Given the description of an element on the screen output the (x, y) to click on. 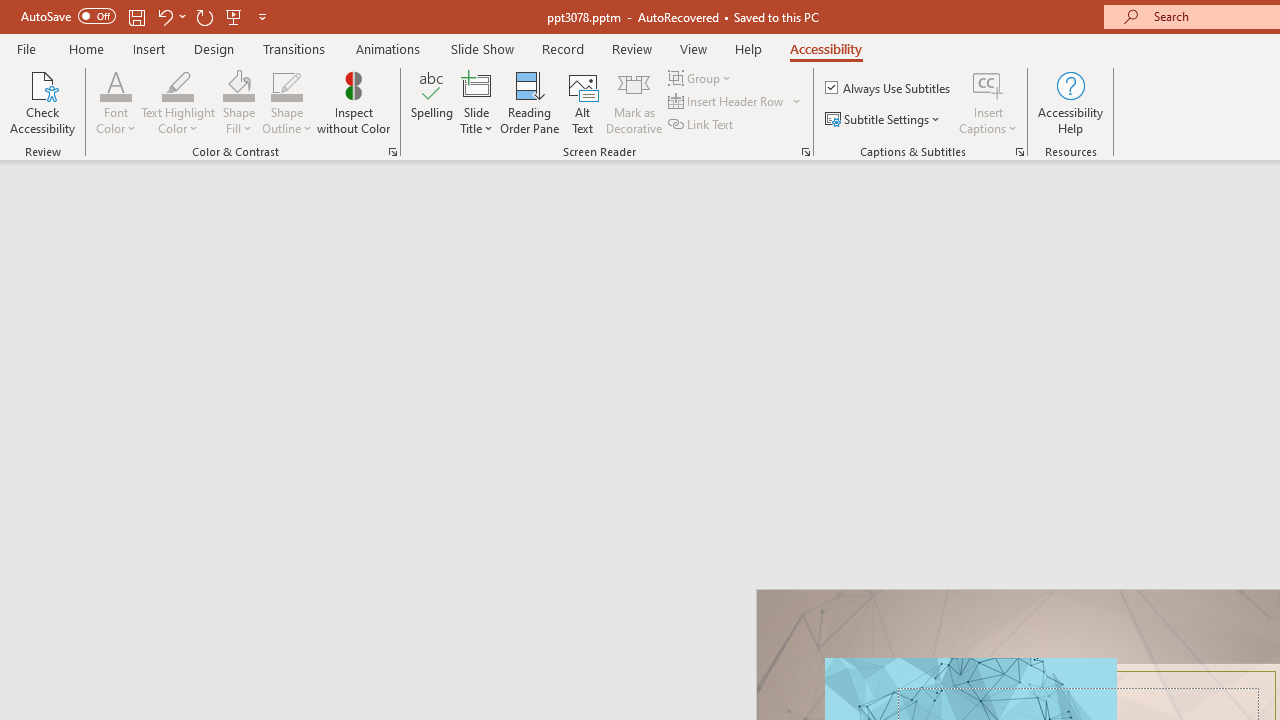
Screen Reader (805, 151)
Always Use Subtitles (889, 87)
Insert Captions (988, 102)
Slide Title (476, 102)
Insert Captions (988, 84)
